Given the description of an element on the screen output the (x, y) to click on. 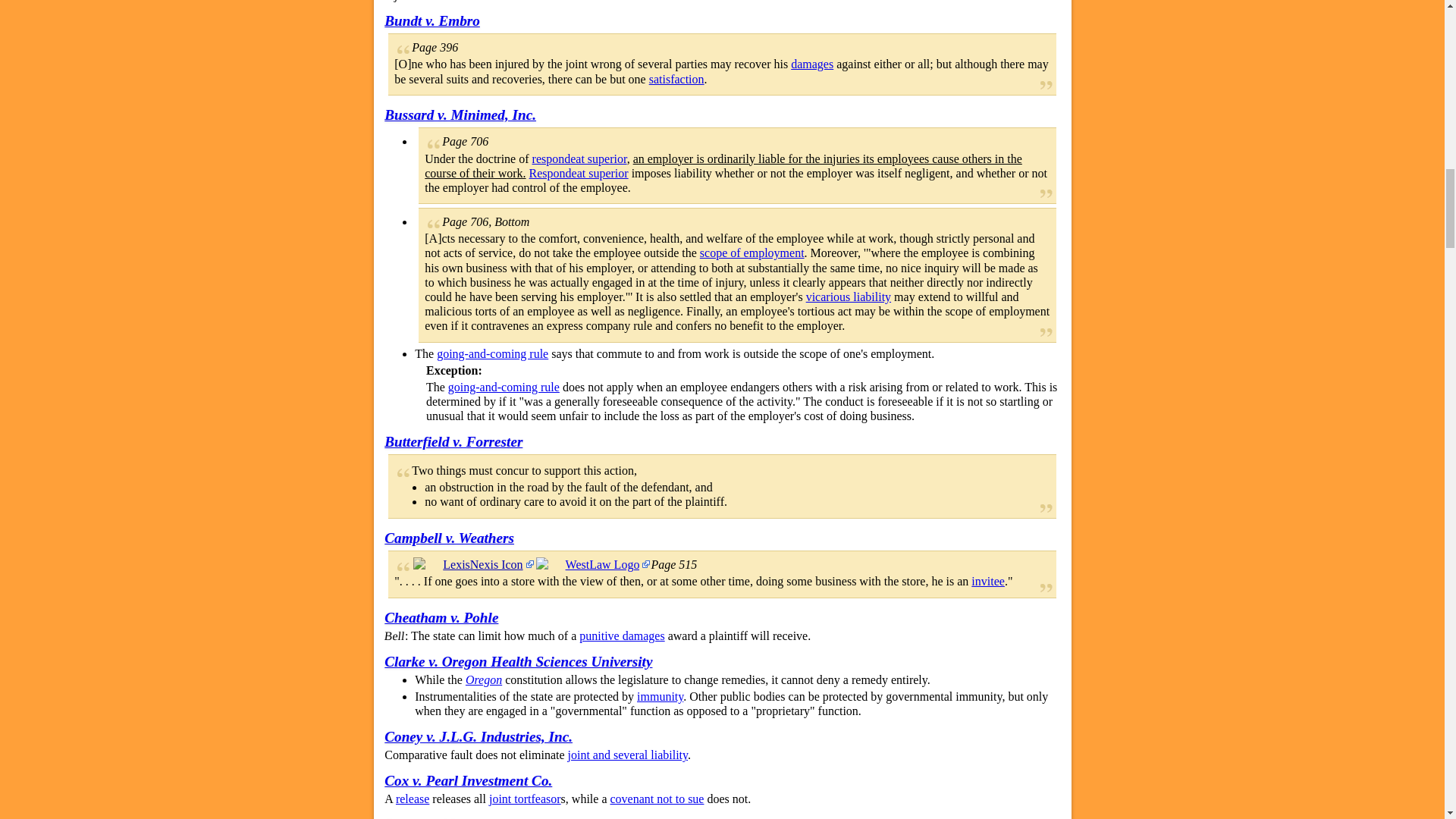
View page 322 on WestLaw (592, 563)
View page 322 on Lexis Advance (473, 563)
damages (811, 63)
satisfaction (676, 78)
Bundt v. Embro (432, 20)
